Given the description of an element on the screen output the (x, y) to click on. 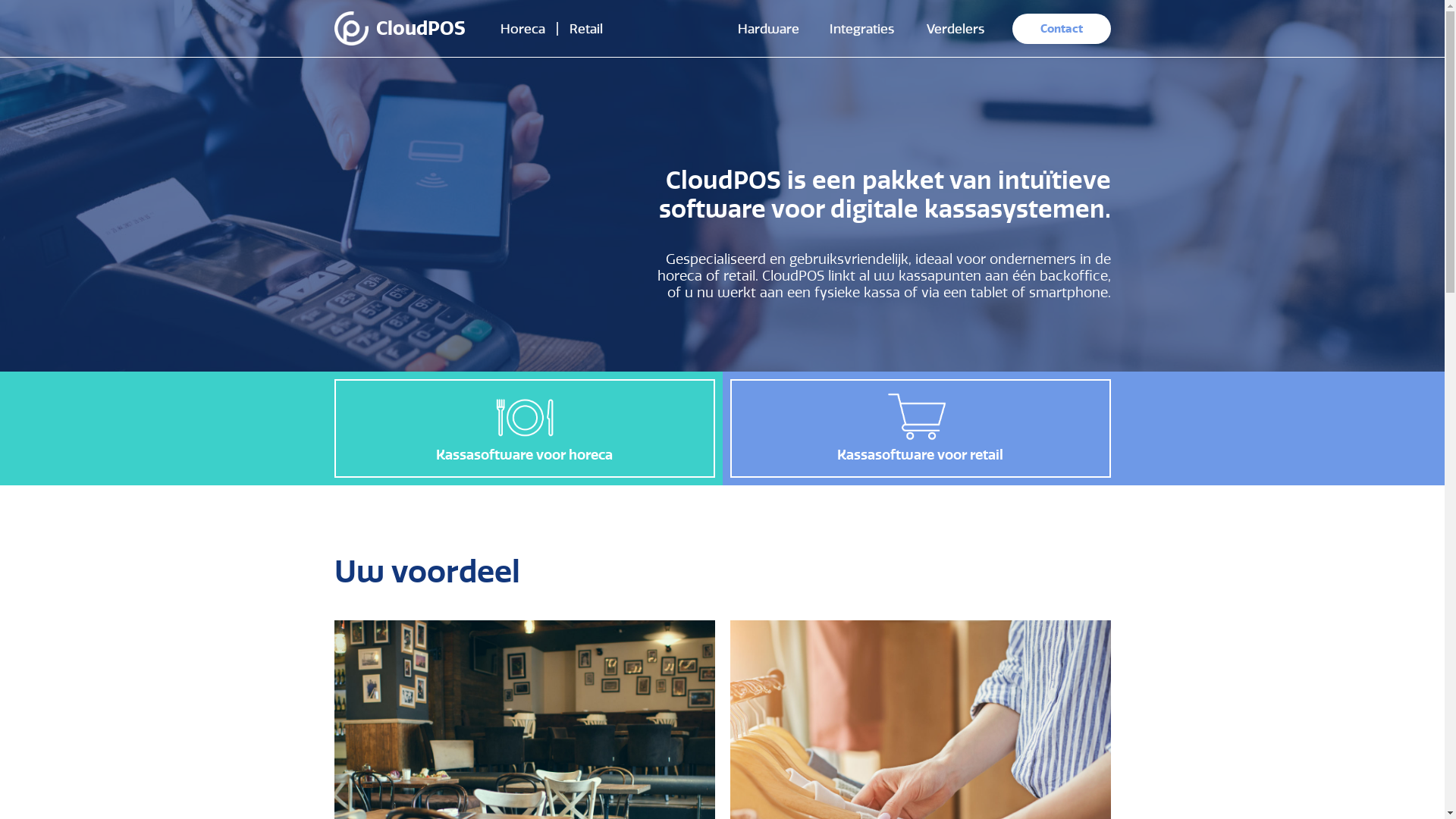
Contact Element type: text (1060, 28)
CloudPOS Element type: text (411, 28)
Integraties Element type: text (861, 28)
Retail Element type: text (589, 28)
Verdelers Element type: text (955, 28)
Horeca Element type: text (519, 28)
Hardware Element type: text (768, 28)
Kassasoftware voor horeca Element type: text (523, 428)
Kassasoftware voor retail Element type: text (919, 428)
